Given the description of an element on the screen output the (x, y) to click on. 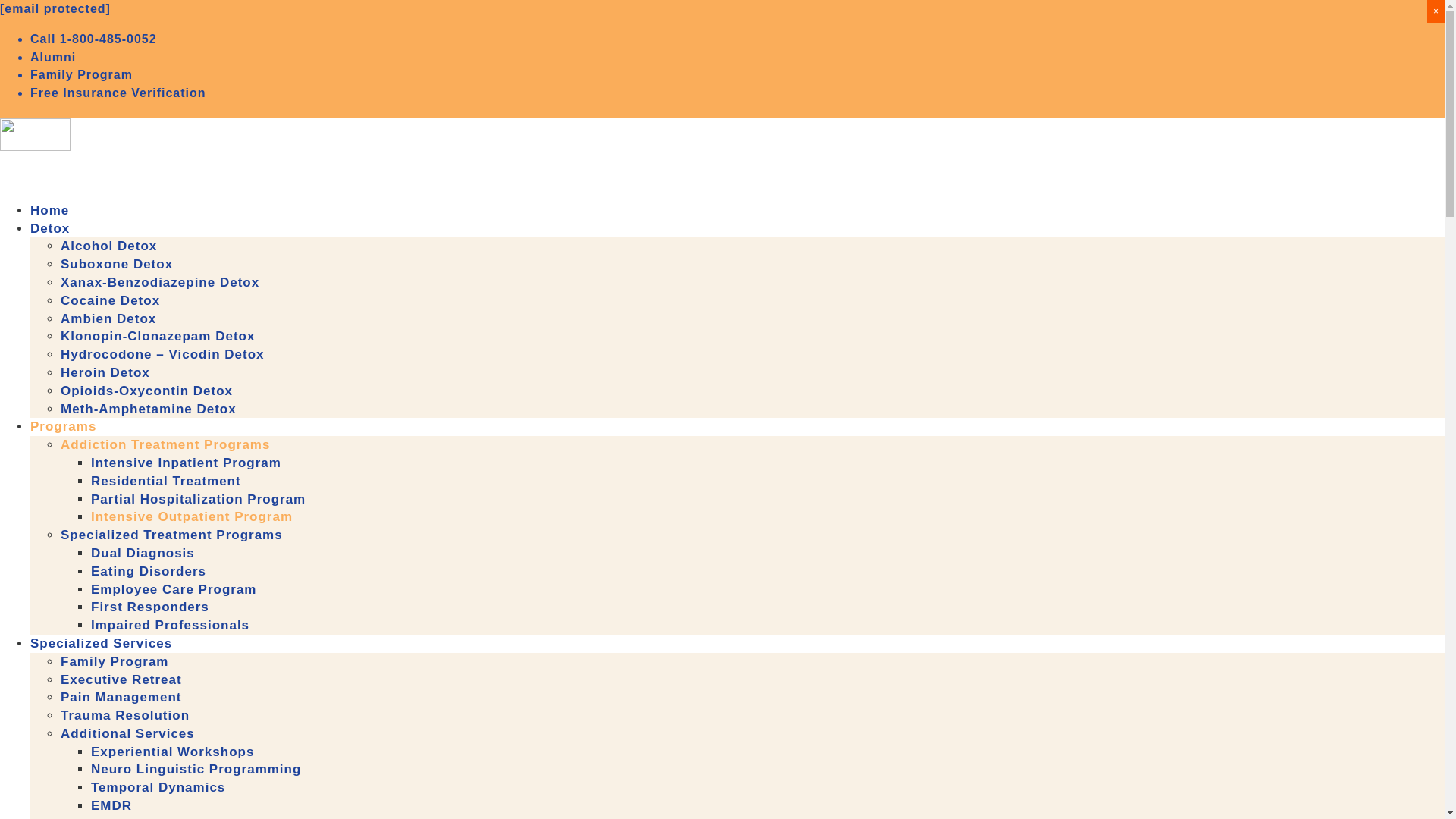
Free Insurance Verification (118, 92)
Family Program (114, 661)
Intensive Inpatient Program (185, 462)
Specialized Services (100, 659)
Partial Hospitalization Program (197, 499)
Suboxone Detox (117, 264)
Xanax-Benzodiazepine Detox (160, 282)
Impaired Professionals (169, 625)
Eating Disorders (148, 571)
Additional Services (128, 733)
